Given the description of an element on the screen output the (x, y) to click on. 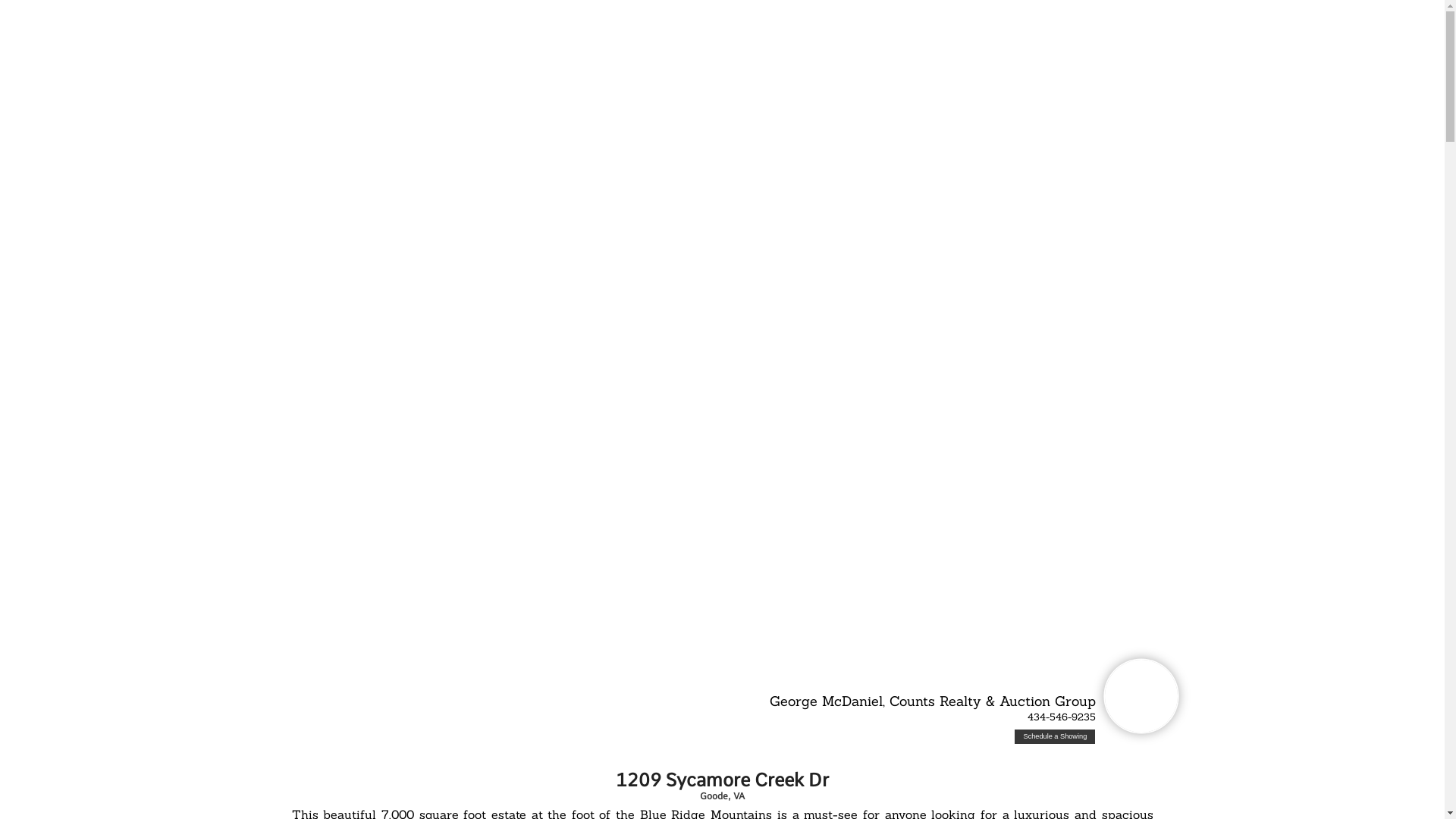
Schedule a Showing Element type: text (1054, 736)
George McDaniel, Counts Realty & Auction Group Element type: text (932, 700)
